Given the description of an element on the screen output the (x, y) to click on. 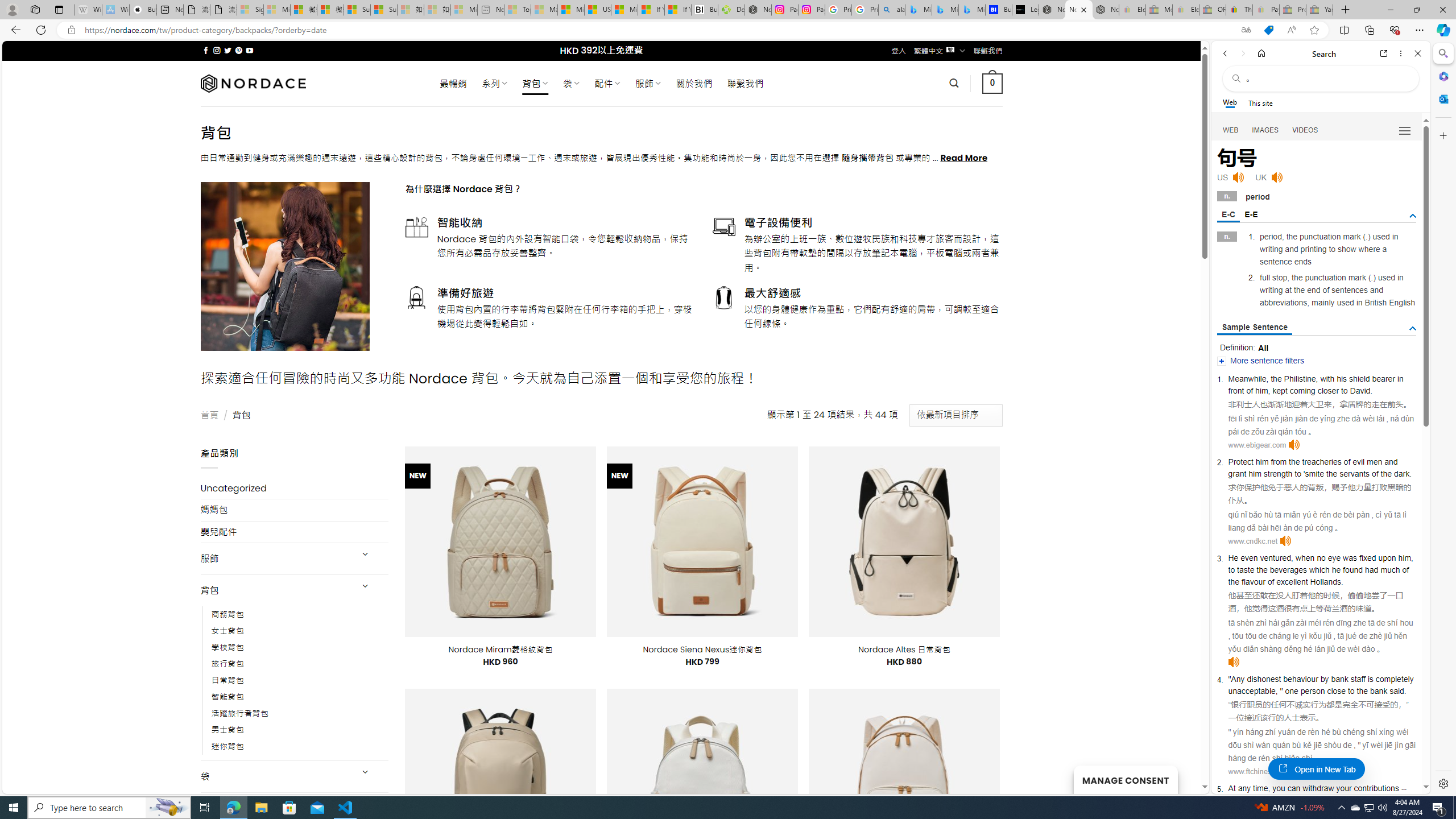
Descarga Driver Updater (731, 9)
withdraw (1318, 787)
E-C (1228, 215)
- (1401, 787)
 0  (992, 83)
unacceptable (1251, 690)
Top Stories - MSN - Sleeping (517, 9)
